Given the description of an element on the screen output the (x, y) to click on. 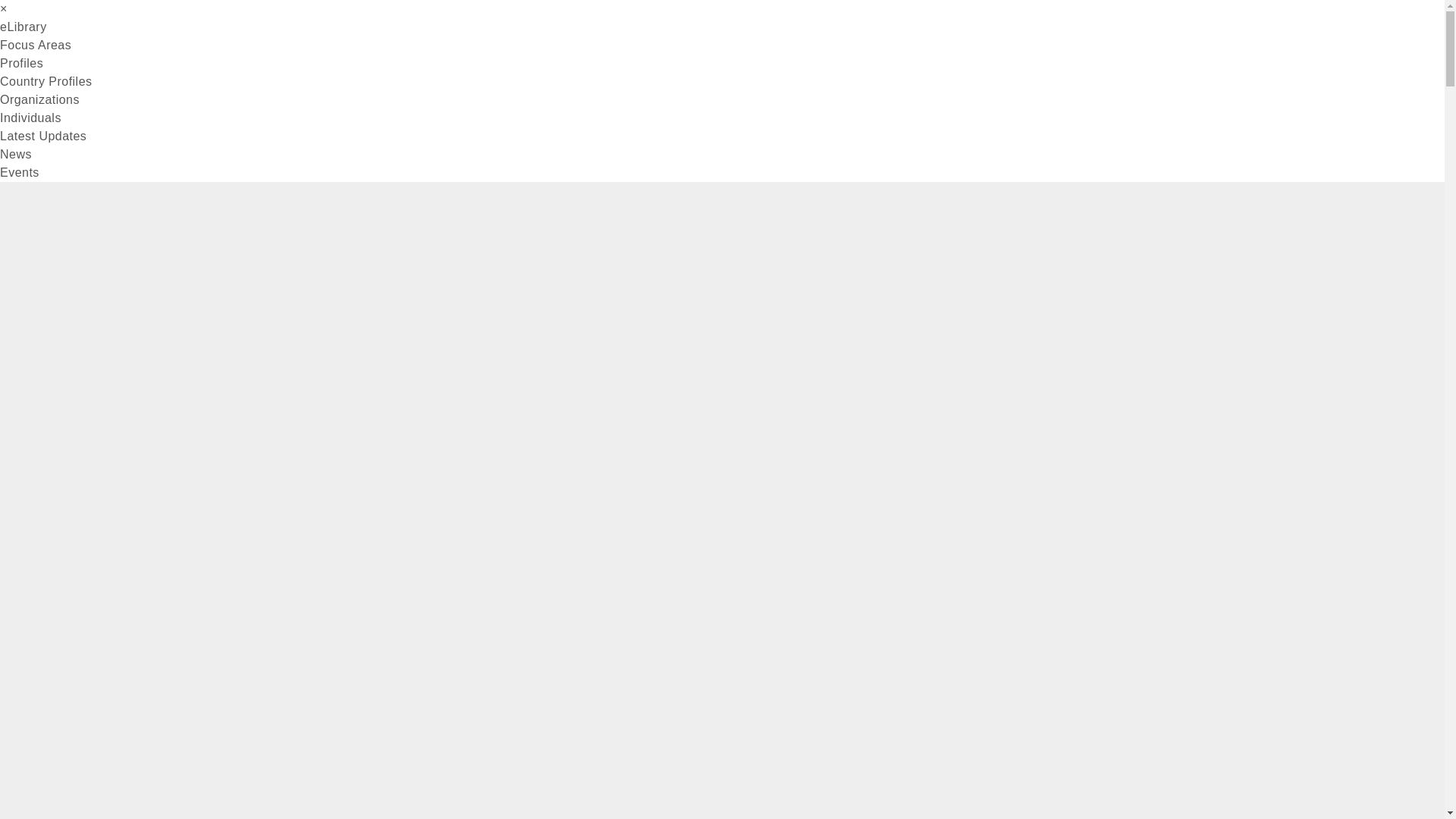
Events (19, 172)
News (16, 154)
eLibrary (23, 26)
Profiles (21, 62)
Focus Areas (35, 44)
Latest Updates (42, 135)
Country Profiles (46, 81)
Organizations (40, 99)
Individuals (30, 117)
